Given the description of an element on the screen output the (x, y) to click on. 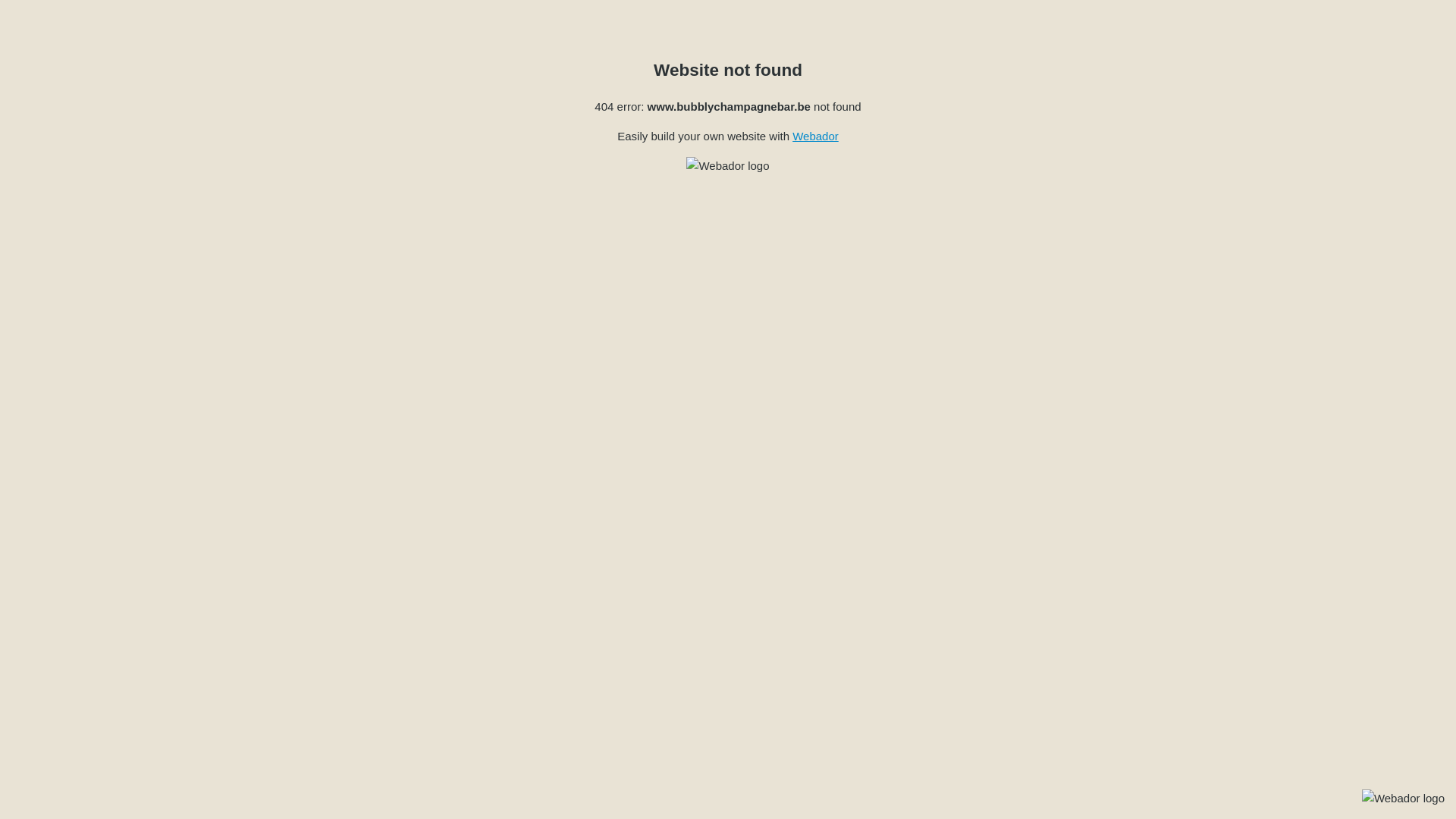
Webador Element type: text (815, 135)
